Given the description of an element on the screen output the (x, y) to click on. 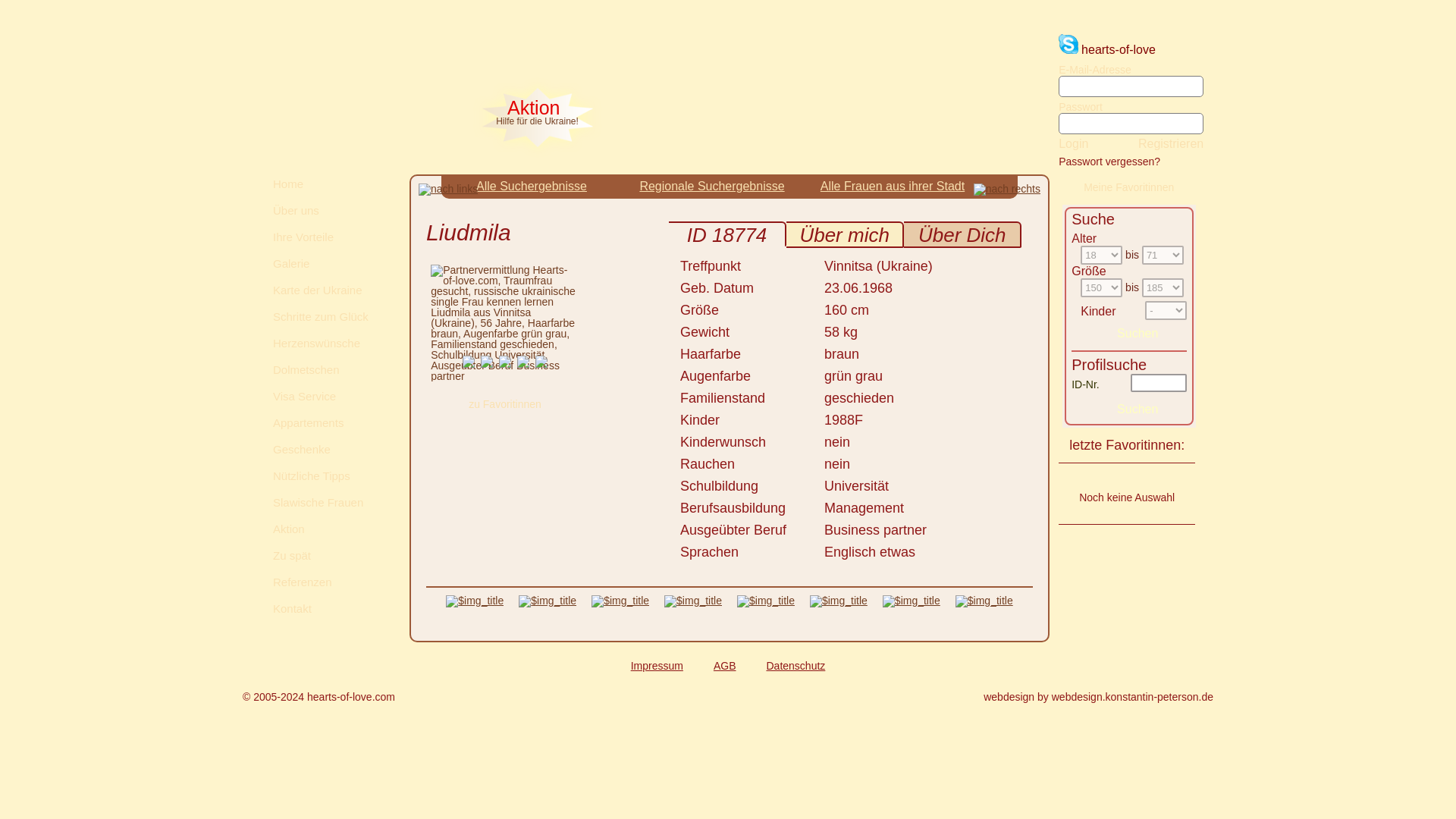
Suchen (1136, 333)
Referenzen (327, 581)
Aktion (327, 528)
ID 18774 (727, 234)
Ihre Vorteile (327, 236)
Appartements (327, 422)
Passwort vergessen? (1109, 161)
Karte der Ukraine (327, 289)
Dolmetschen (327, 369)
